Given the description of an element on the screen output the (x, y) to click on. 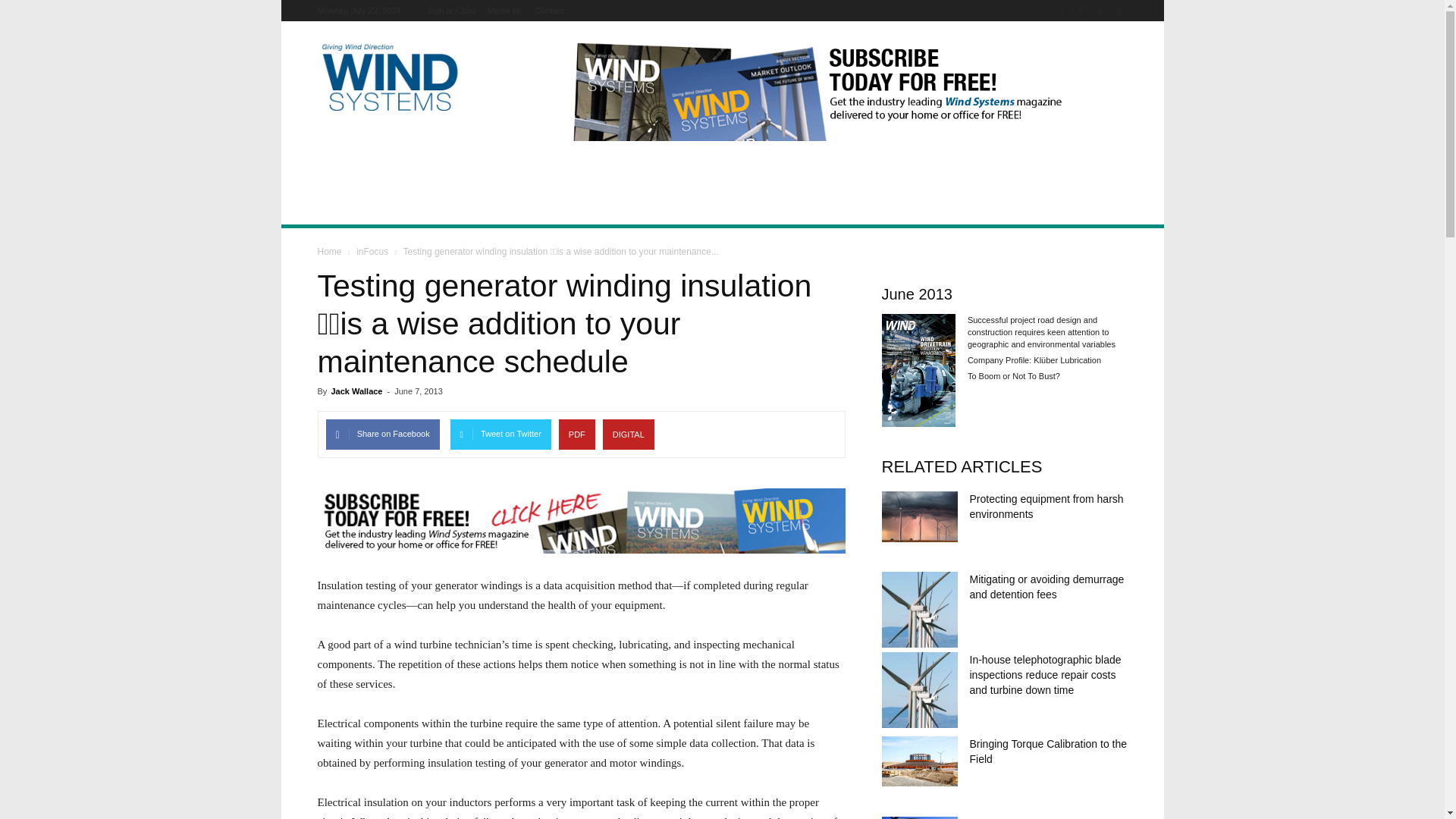
Contact (549, 10)
Media kit (502, 10)
